Given the description of an element on the screen output the (x, y) to click on. 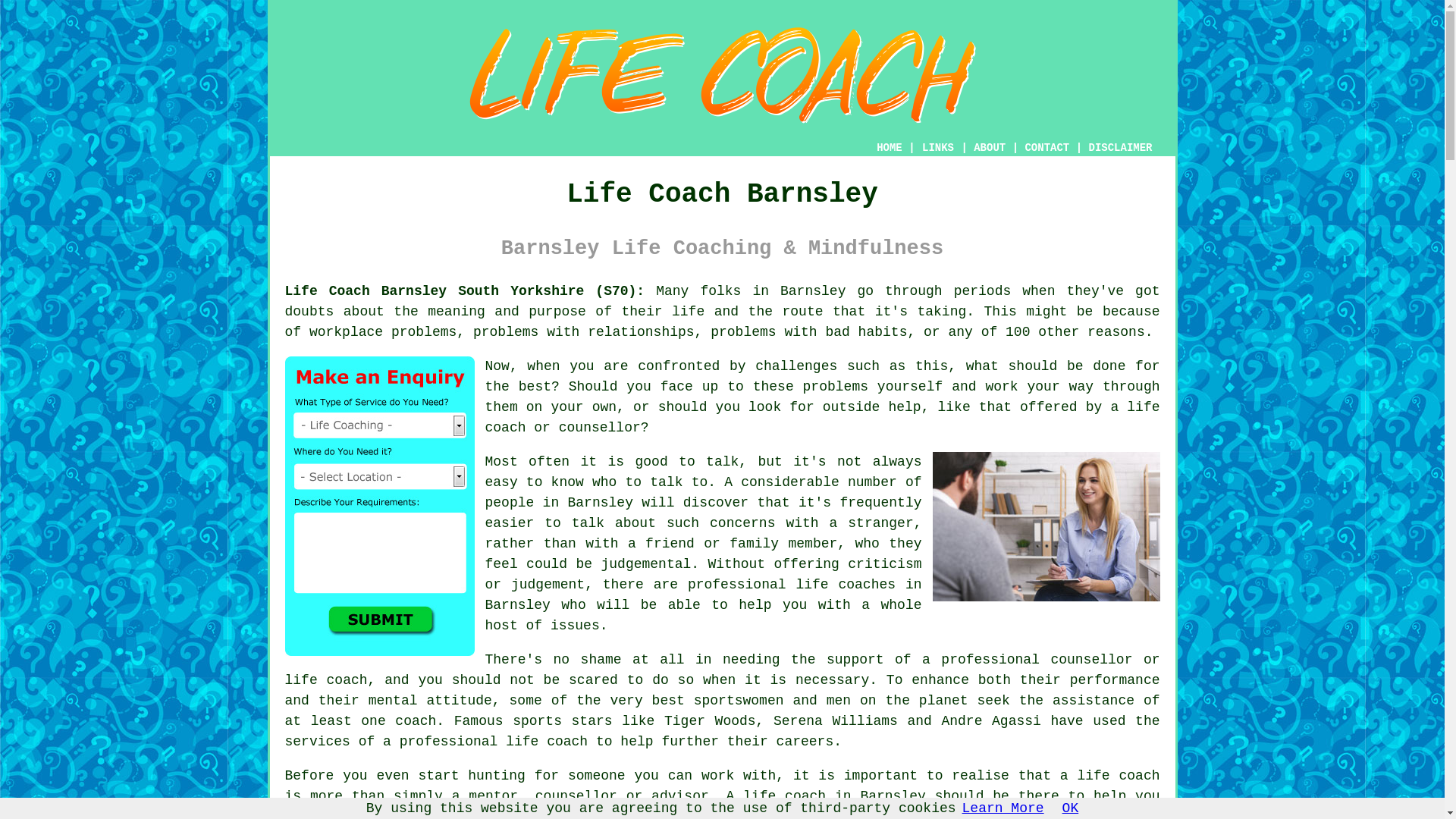
life coach (822, 416)
Life Coach Barnsley (722, 75)
Free Barnsley Life Coach Quotes (379, 506)
life coaches (844, 584)
LINKS (938, 147)
HOME (889, 147)
